Given the description of an element on the screen output the (x, y) to click on. 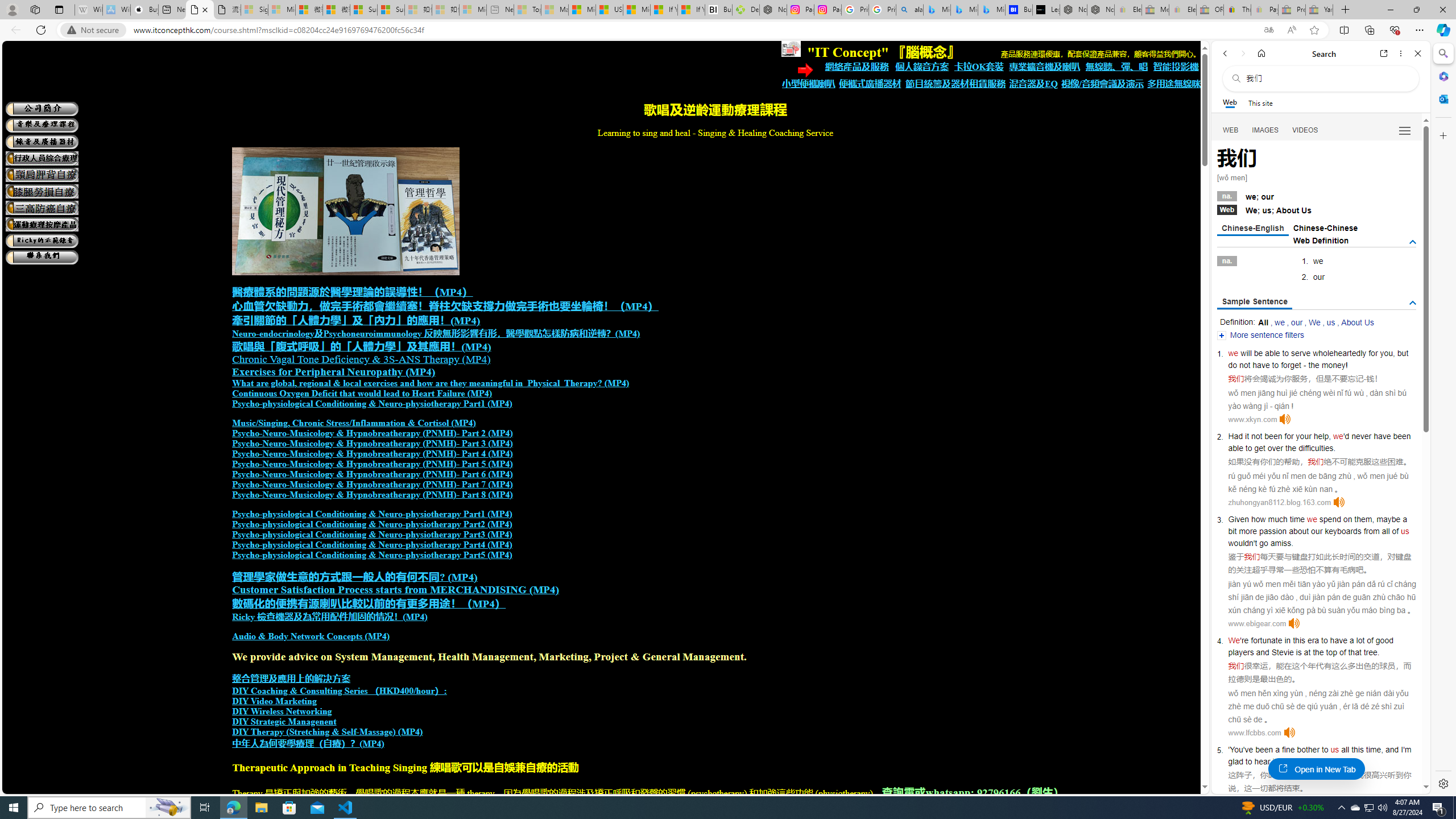
Show translate options (1268, 29)
more (1248, 530)
over (1275, 447)
Chinese-Chinese (1325, 227)
bother (1308, 749)
Sign in to your Microsoft account - Sleeping (254, 9)
a (1277, 749)
